Given the description of an element on the screen output the (x, y) to click on. 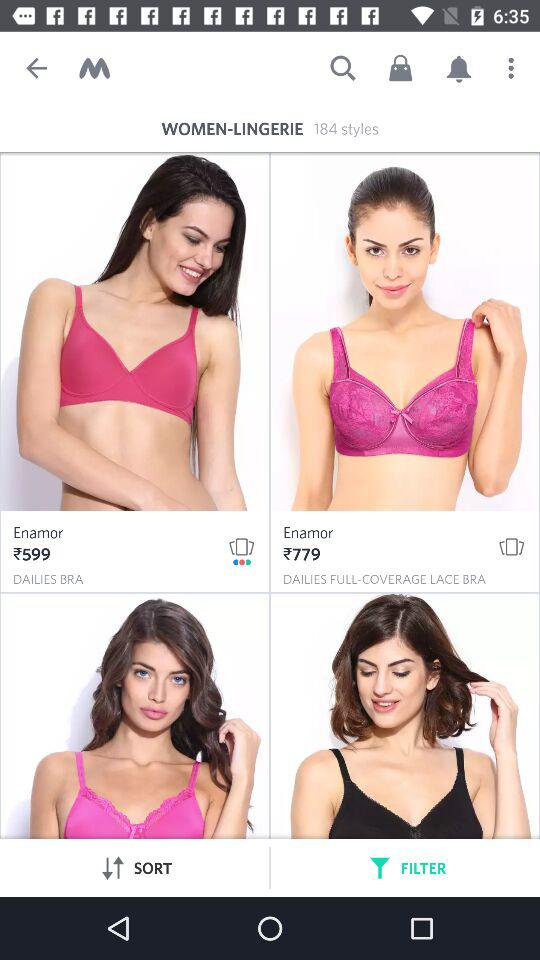
tap on the myntra icon at the top left corner of the page (94, 67)
